Given the description of an element on the screen output the (x, y) to click on. 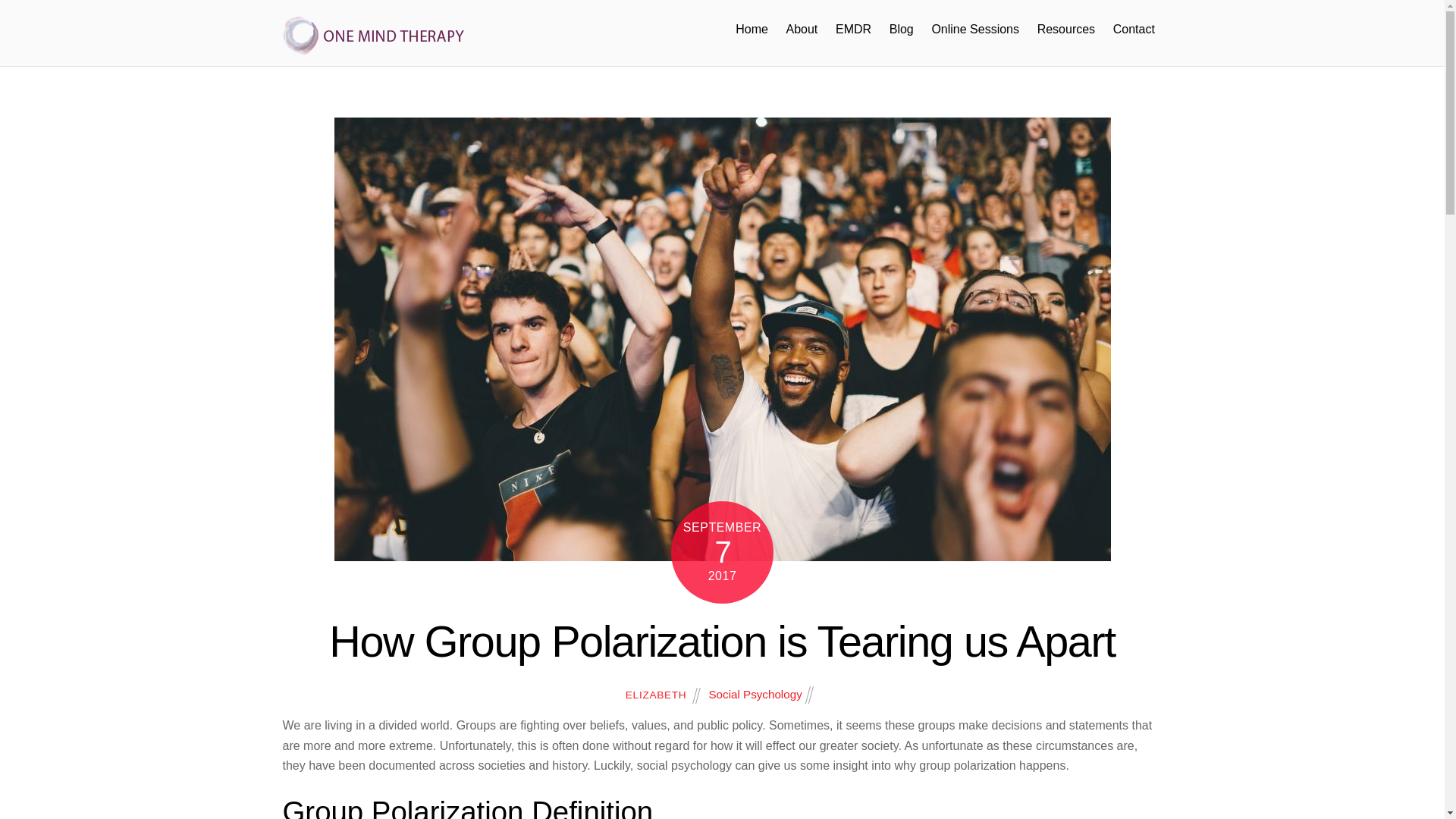
One Mind Therapy (373, 35)
Social Psychology (754, 694)
EMDR (852, 29)
ELIZABETH (656, 695)
About (801, 29)
Blog (901, 29)
Contact (1133, 29)
One Mind Therapy (373, 46)
Resources (1065, 29)
Home (752, 29)
Online Sessions (975, 29)
How Group Polarization is Tearing us Apart (722, 641)
